Given the description of an element on the screen output the (x, y) to click on. 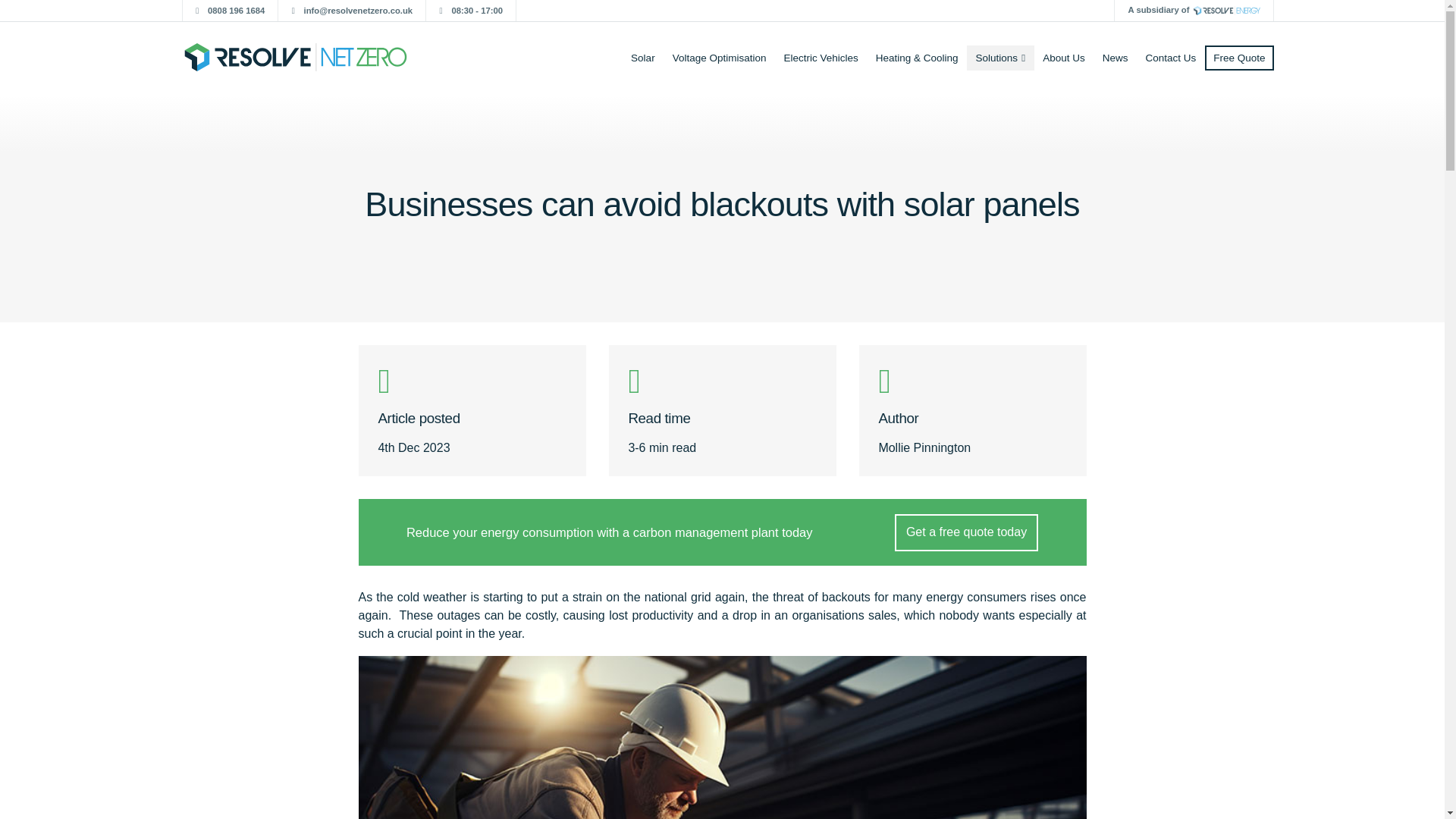
Get a free quote today (966, 532)
Voltage Optimisation (718, 57)
Contact Us (1171, 57)
08:30 - 17:00 (471, 10)
Solutions (999, 57)
About Us (1063, 57)
Electric Vehicles (820, 57)
News (1115, 57)
Free Quote (1239, 57)
0808 196 1684 (230, 10)
A subsidiary of (1193, 10)
Solar (643, 57)
